Given the description of an element on the screen output the (x, y) to click on. 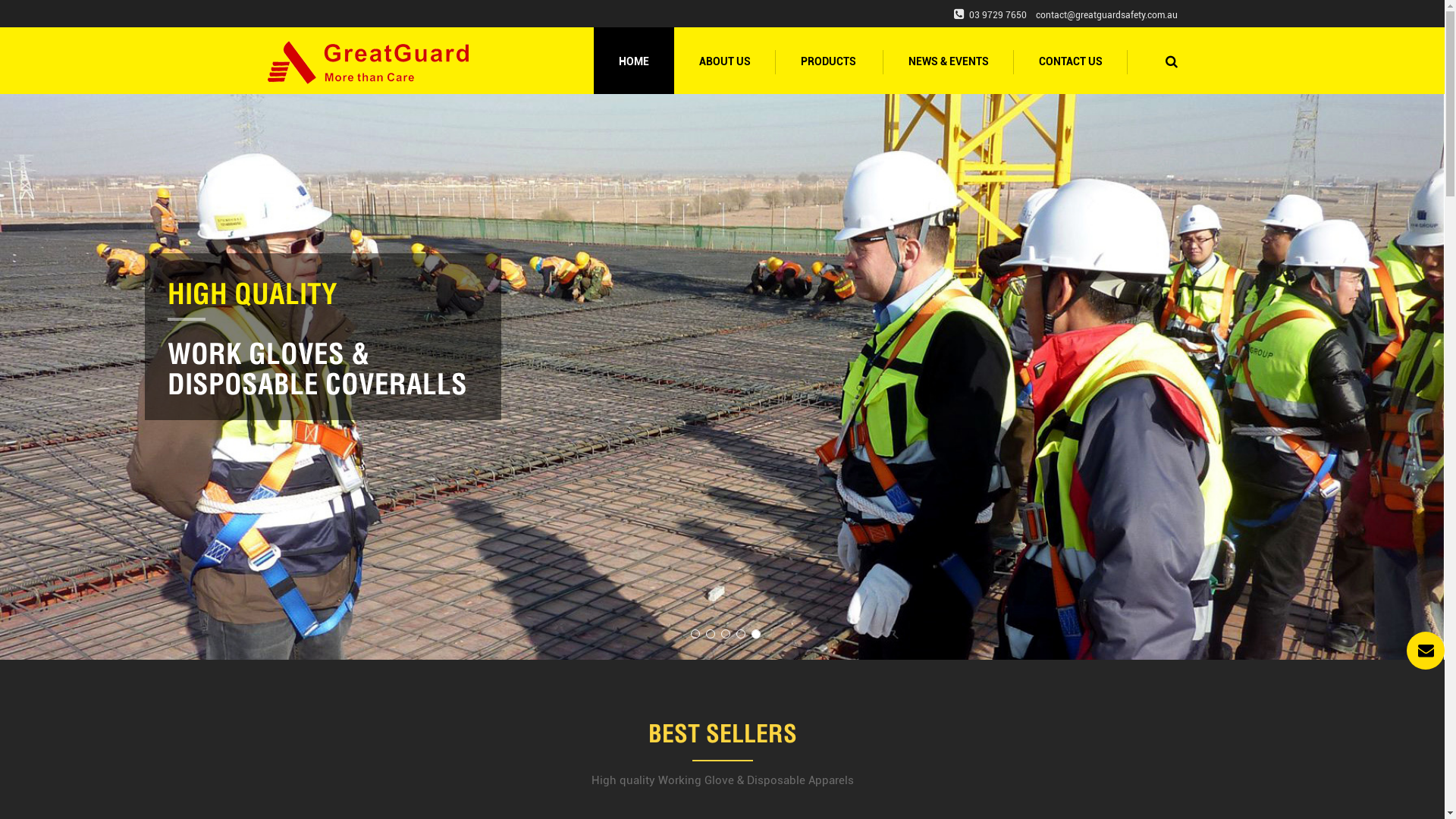
ABOUT US Element type: text (724, 60)
HOME Element type: text (633, 60)
PRODUCTS Element type: text (828, 60)
CONTACT US Element type: text (1069, 60)
4 Element type: text (740, 634)
3 Element type: text (725, 634)
1 Element type: text (695, 634)
contact@greatguardsafety.com.au Element type: text (1106, 14)
5 Element type: text (755, 634)
NEWS & EVENTS Element type: text (947, 60)
2 Element type: text (710, 634)
